Given the description of an element on the screen output the (x, y) to click on. 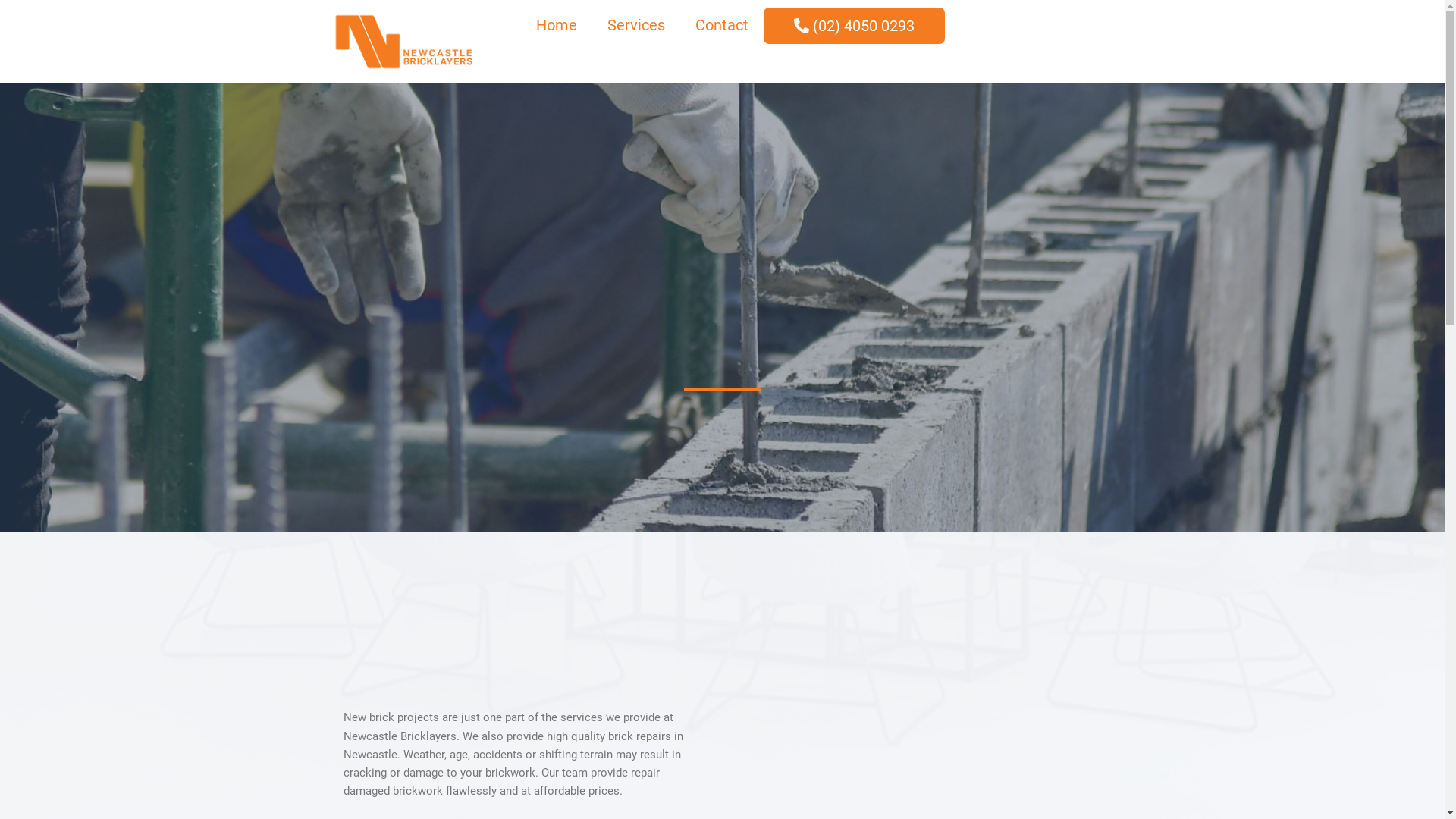
Contact Element type: text (721, 24)
Services Element type: text (636, 24)
(02) 4050 0293 Element type: text (853, 25)
Home Element type: text (556, 24)
